Given the description of an element on the screen output the (x, y) to click on. 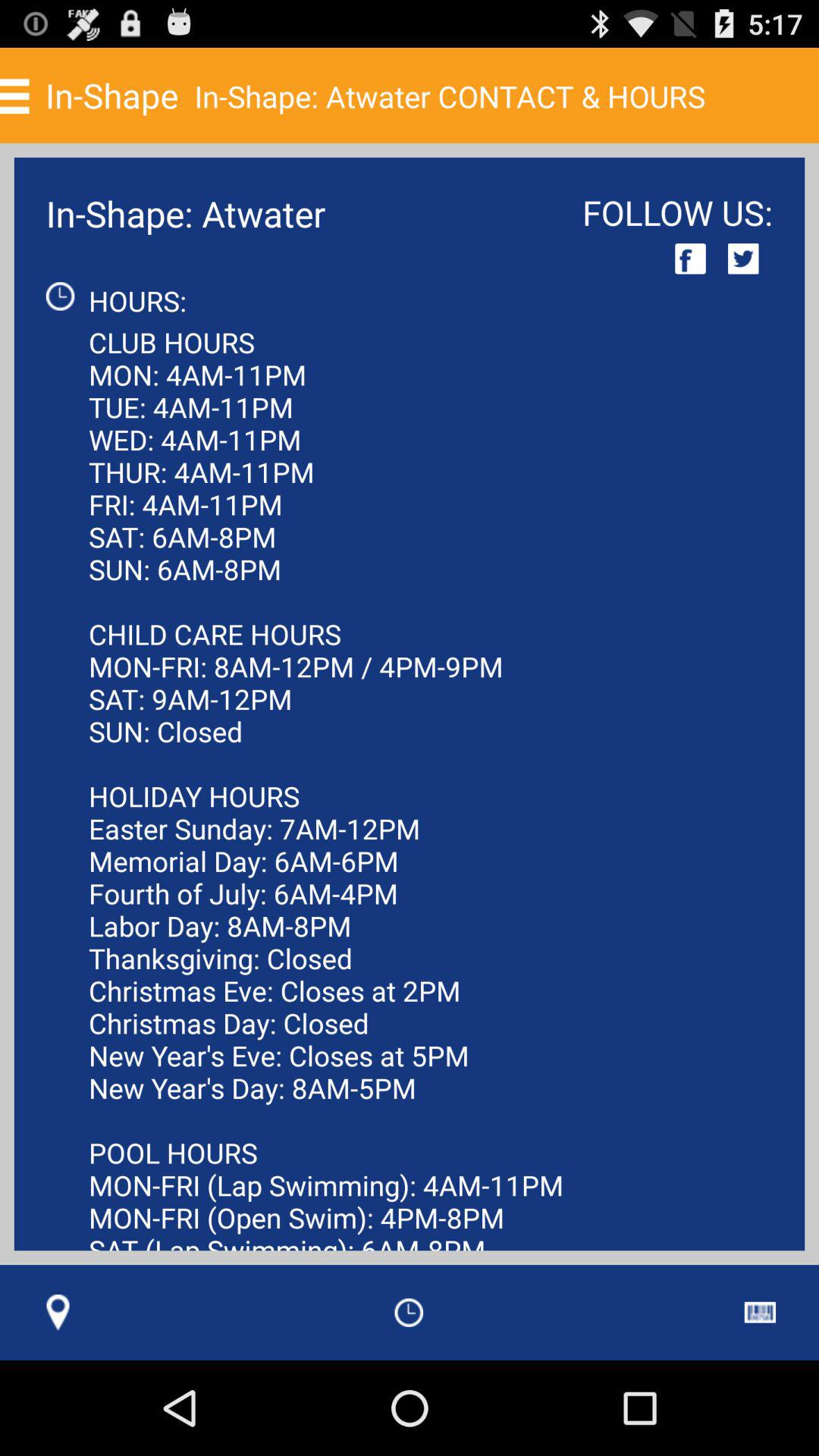
select item to the right of the club hours mon app (759, 1312)
